Given the description of an element on the screen output the (x, y) to click on. 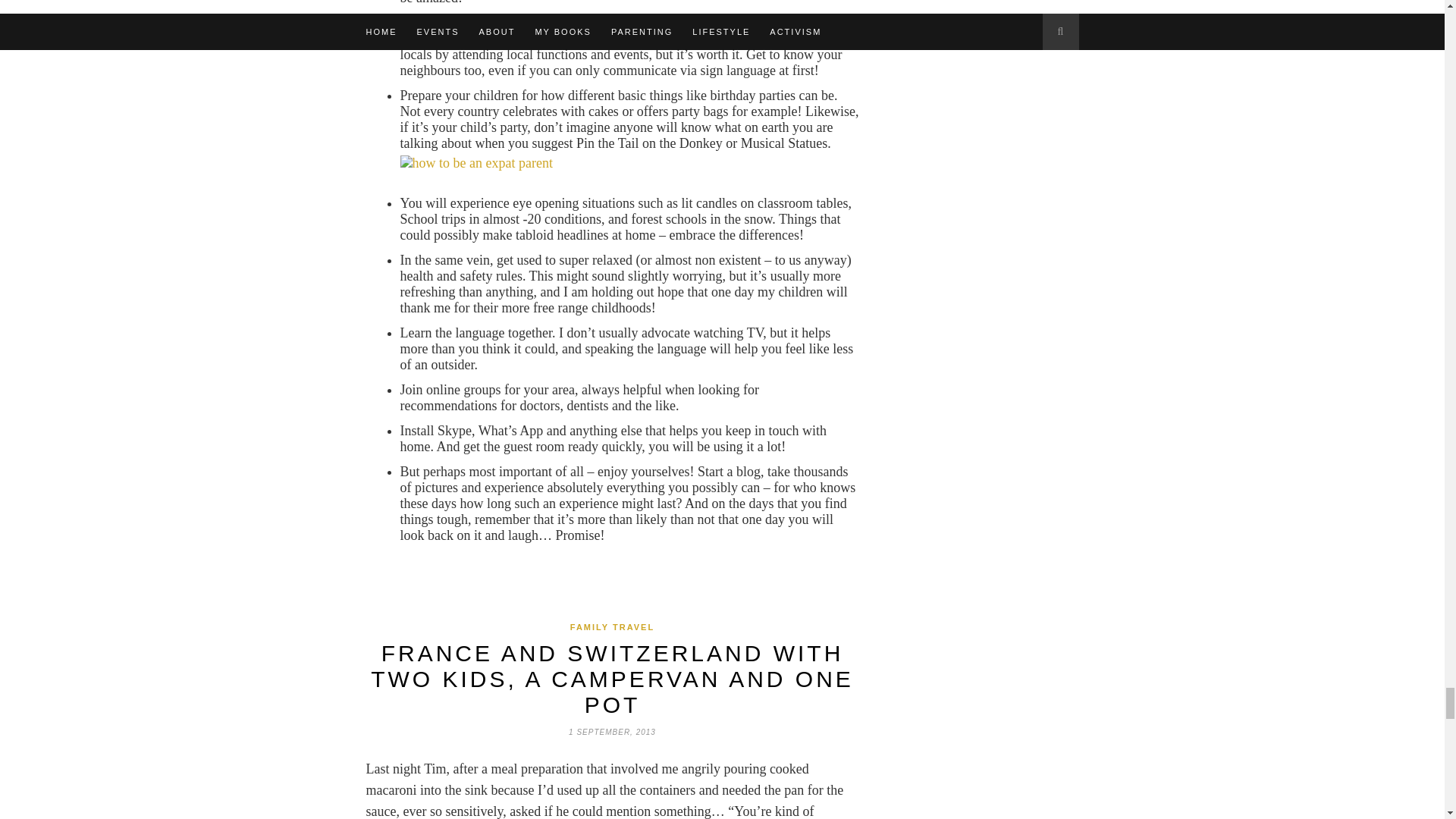
View all posts in Family Travel (611, 626)
